Given the description of an element on the screen output the (x, y) to click on. 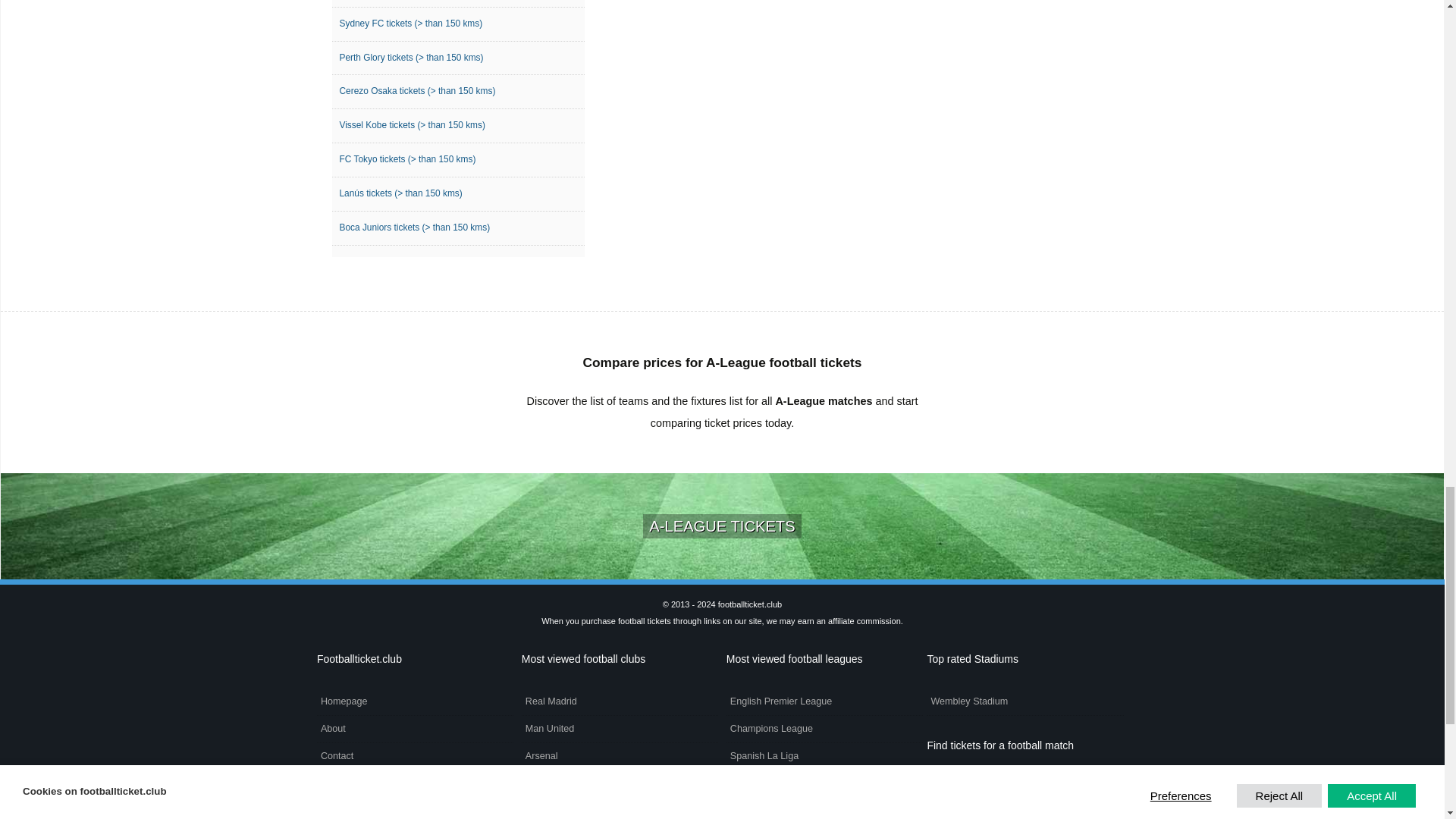
 Western Sydney Wanderers football tickets (458, 3)
 Sydney FC football tickets (458, 24)
FC Tokyo football tickets (458, 160)
 Perth Glory football tickets (458, 58)
Vissel Kobe football tickets (458, 125)
Cerezo Osaka football tickets (458, 91)
